Given the description of an element on the screen output the (x, y) to click on. 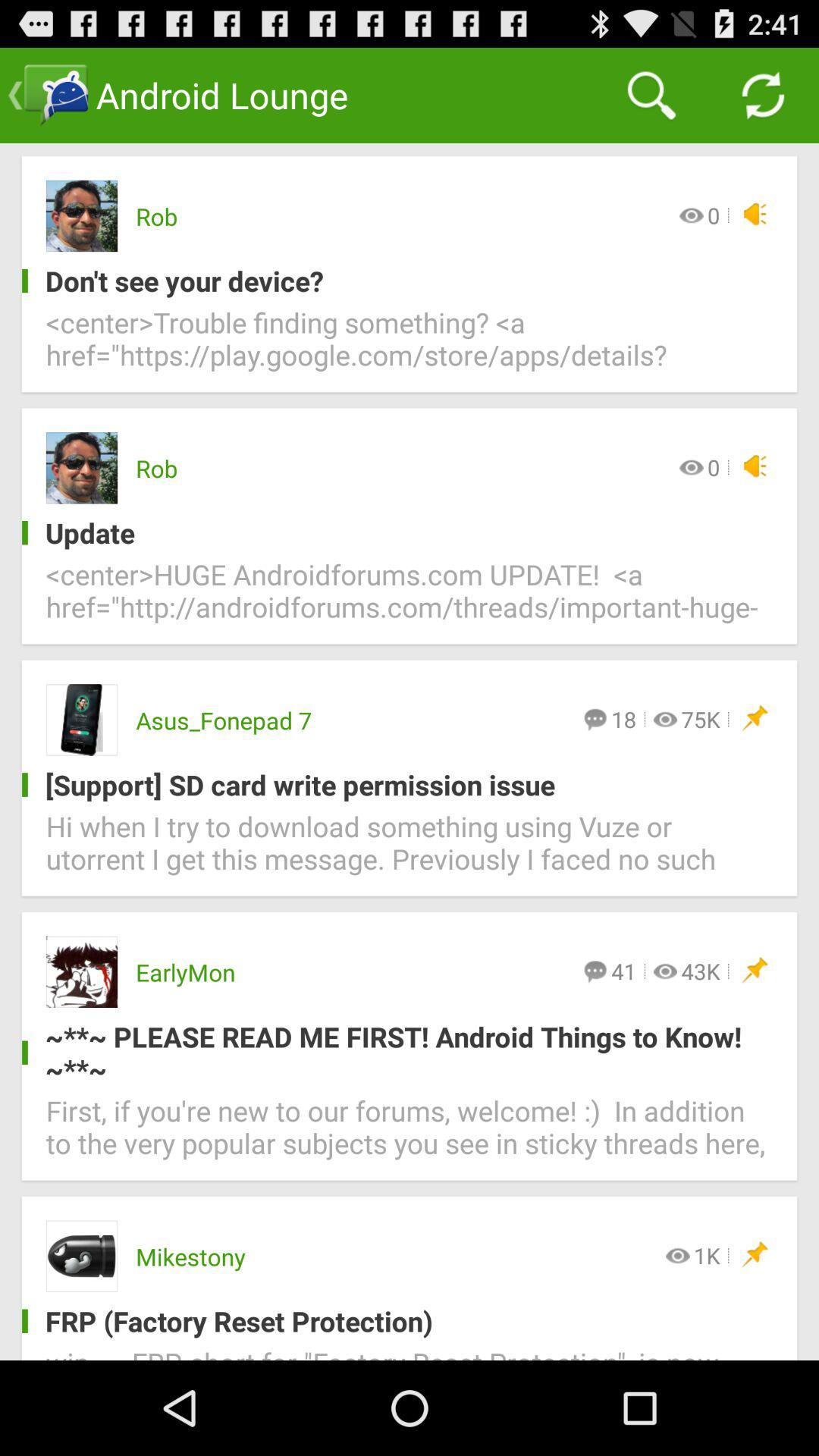
tap item above the hi when i (397, 784)
